Given the description of an element on the screen output the (x, y) to click on. 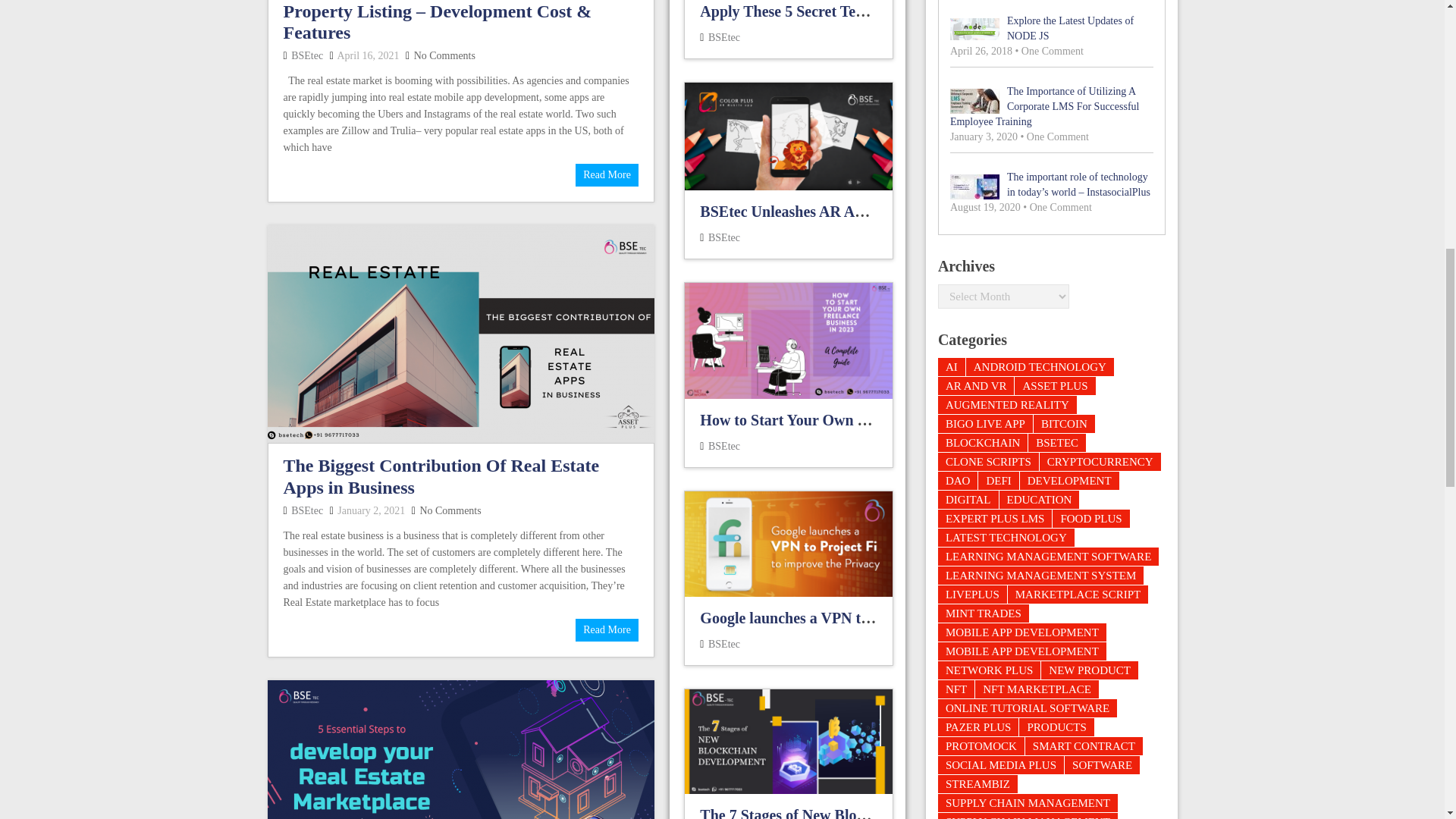
The Biggest Contribution Of Real Estate Apps in Business (607, 630)
Posts by BSEtec (307, 55)
The Biggest Contribution Of Real Estate Apps in Business (441, 476)
The Biggest Contribution Of Real Estate Apps in Business (459, 334)
5 Essential Steps to develop your Real Estate Marketplace (459, 749)
Posts by BSEtec (307, 510)
